Given the description of an element on the screen output the (x, y) to click on. 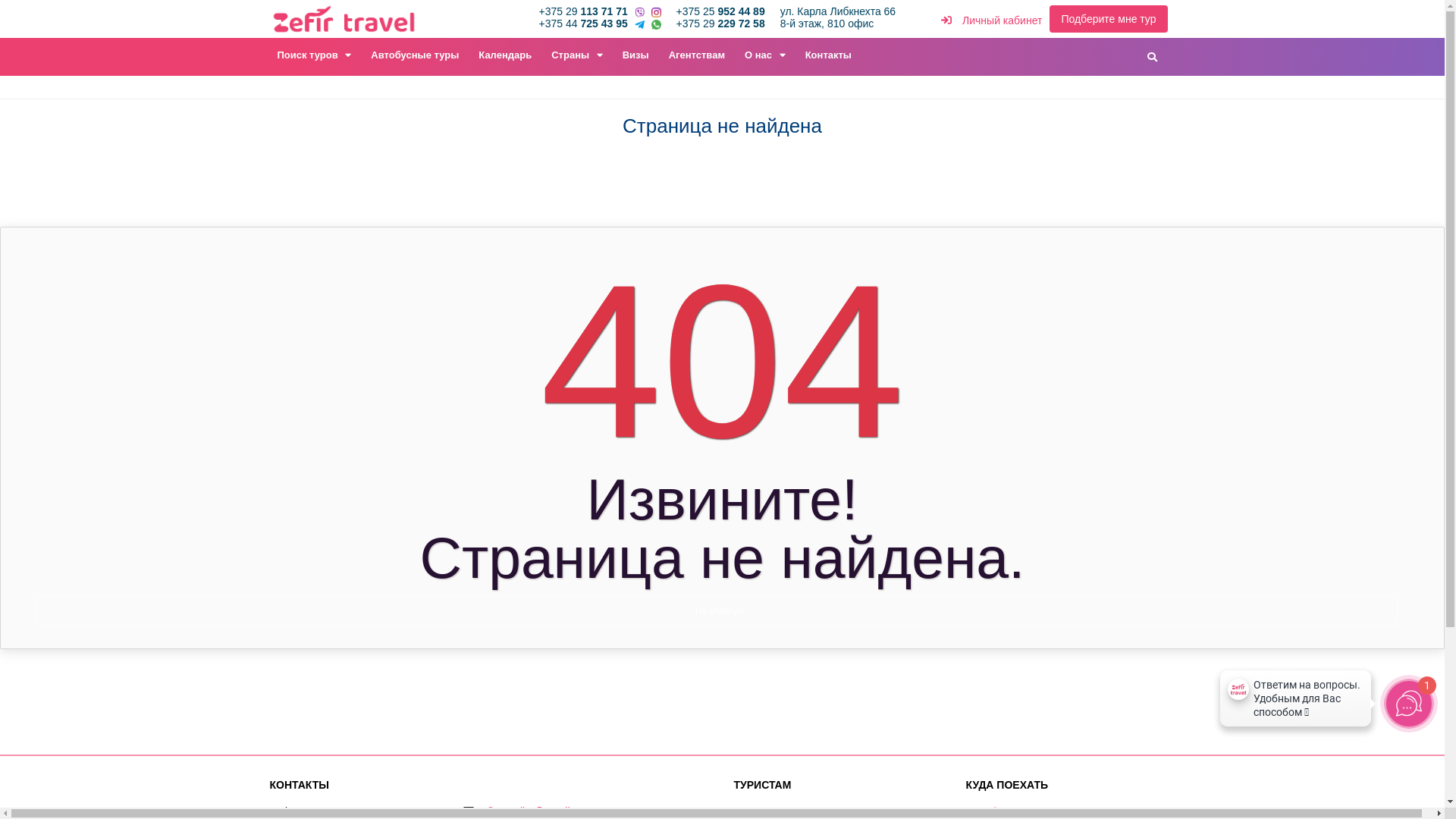
+375 25 952 44 89 Element type: text (720, 11)
zefirtravelby@gmail.com Element type: text (534, 811)
+375 29 229 72 58 Element type: text (720, 23)
+375 29 113 71 71 Element type: text (583, 11)
amoCRM Live Chat Element type: hover (1295, 701)
+375 44 725 43 95 Element type: text (583, 23)
